Given the description of an element on the screen output the (x, y) to click on. 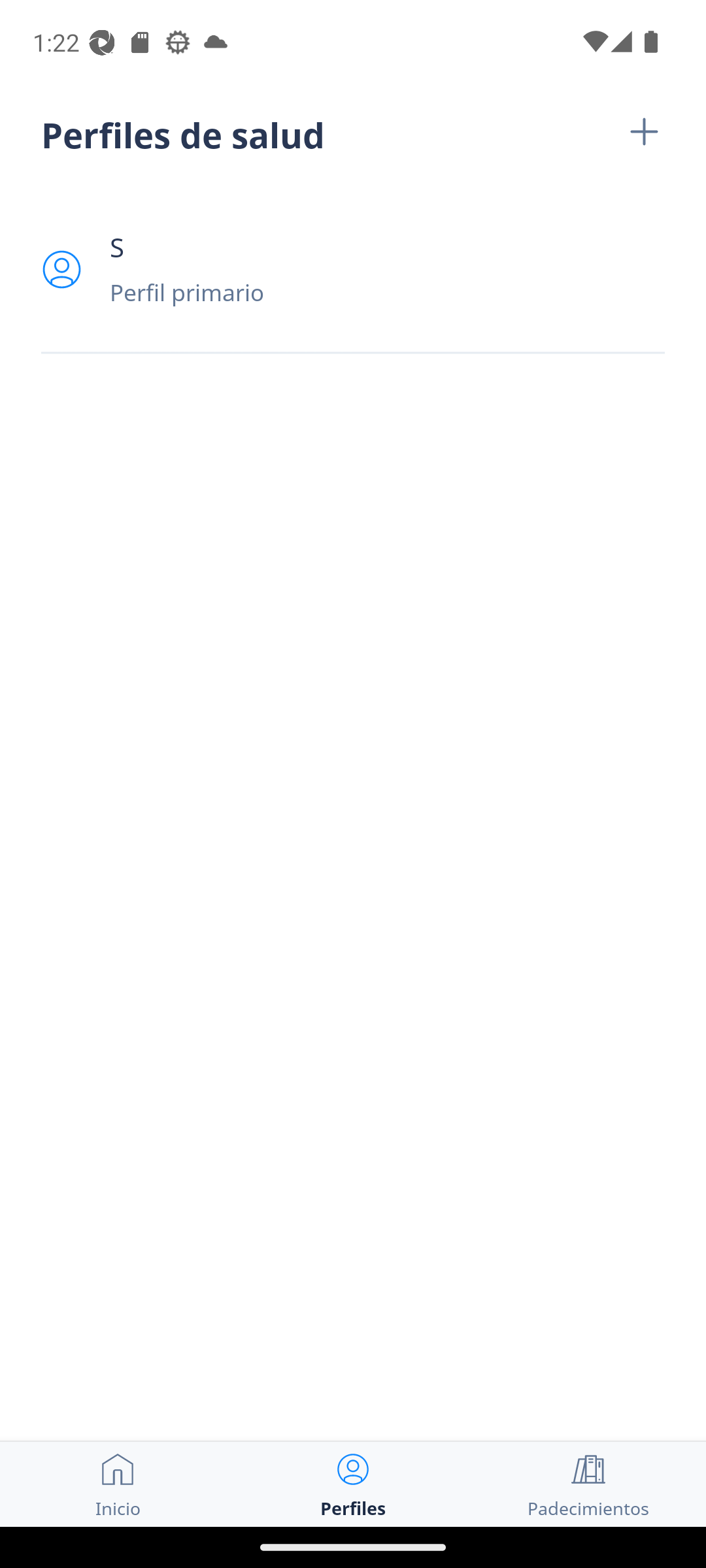
S Perfil primario (352, 269)
Inicio (117, 1484)
Perfiles (352, 1484)
Padecimientos (588, 1484)
